Given the description of an element on the screen output the (x, y) to click on. 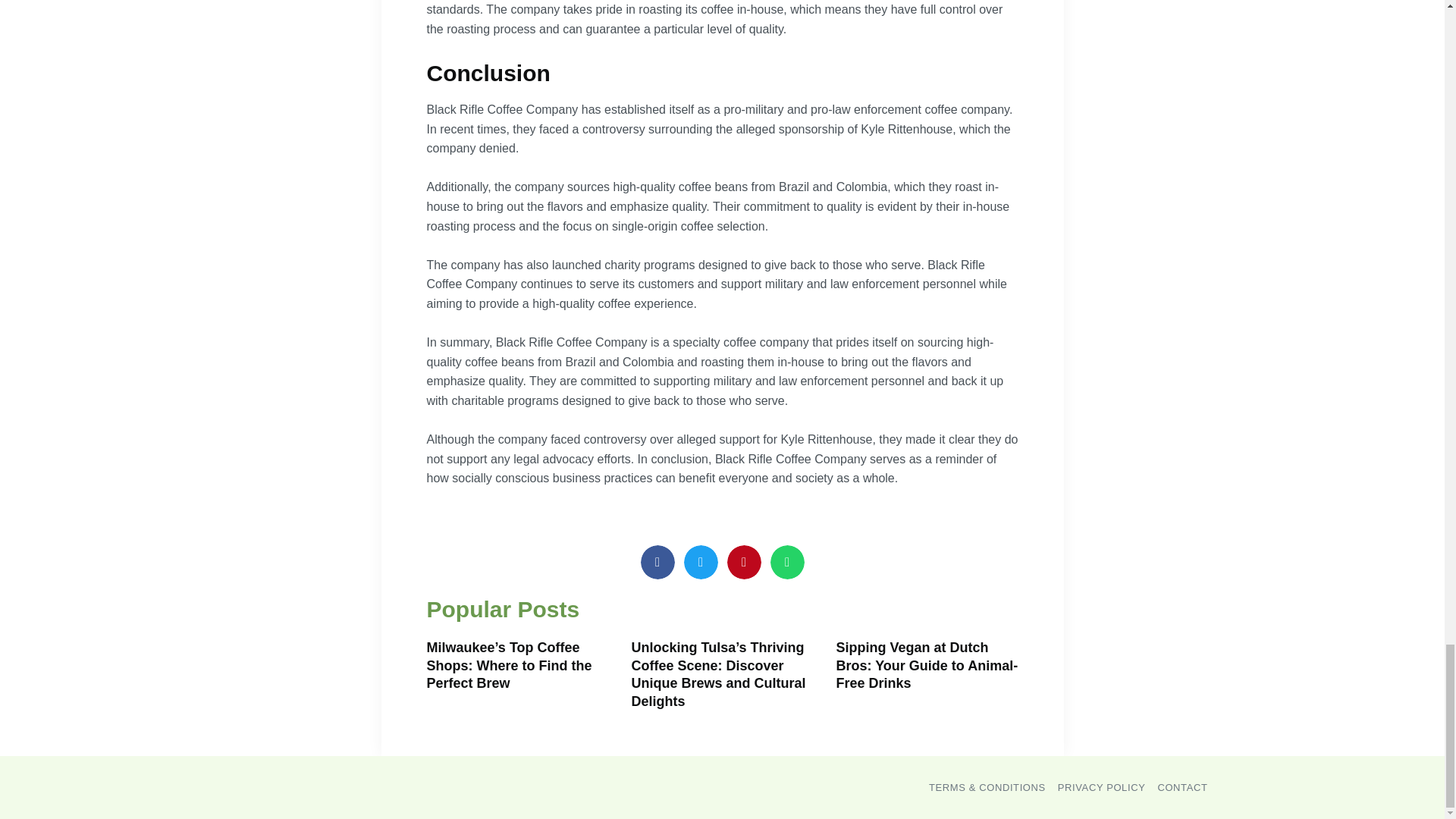
PRIVACY POLICY (1101, 787)
CONTACT (1182, 787)
